Given the description of an element on the screen output the (x, y) to click on. 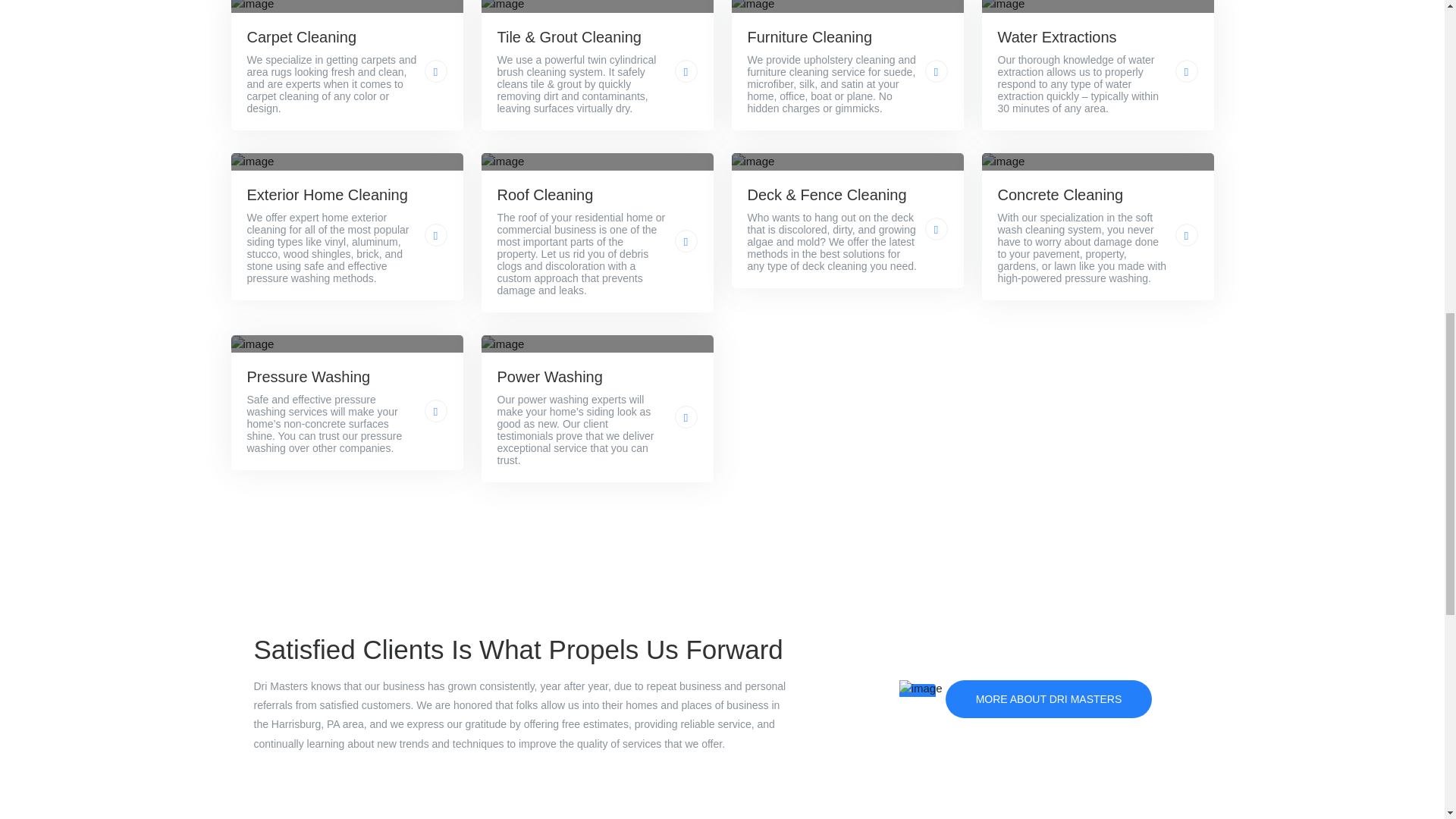
Exterior Home Cleaning (331, 194)
Water Extractions (1082, 36)
Furniture Cleaning (832, 36)
Carpet Cleaning (331, 36)
